Given the description of an element on the screen output the (x, y) to click on. 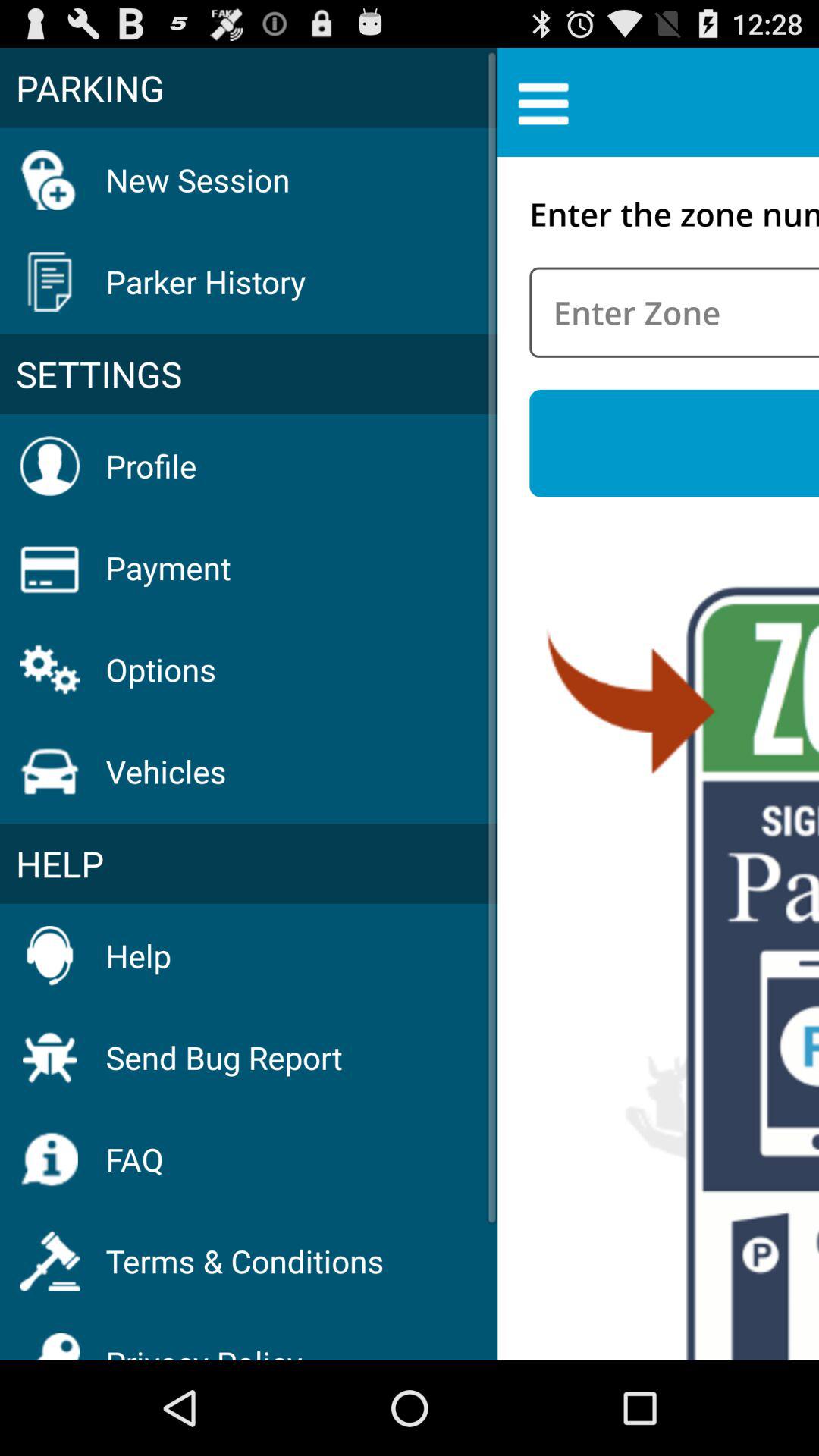
swipe to the terms & conditions item (244, 1260)
